Given the description of an element on the screen output the (x, y) to click on. 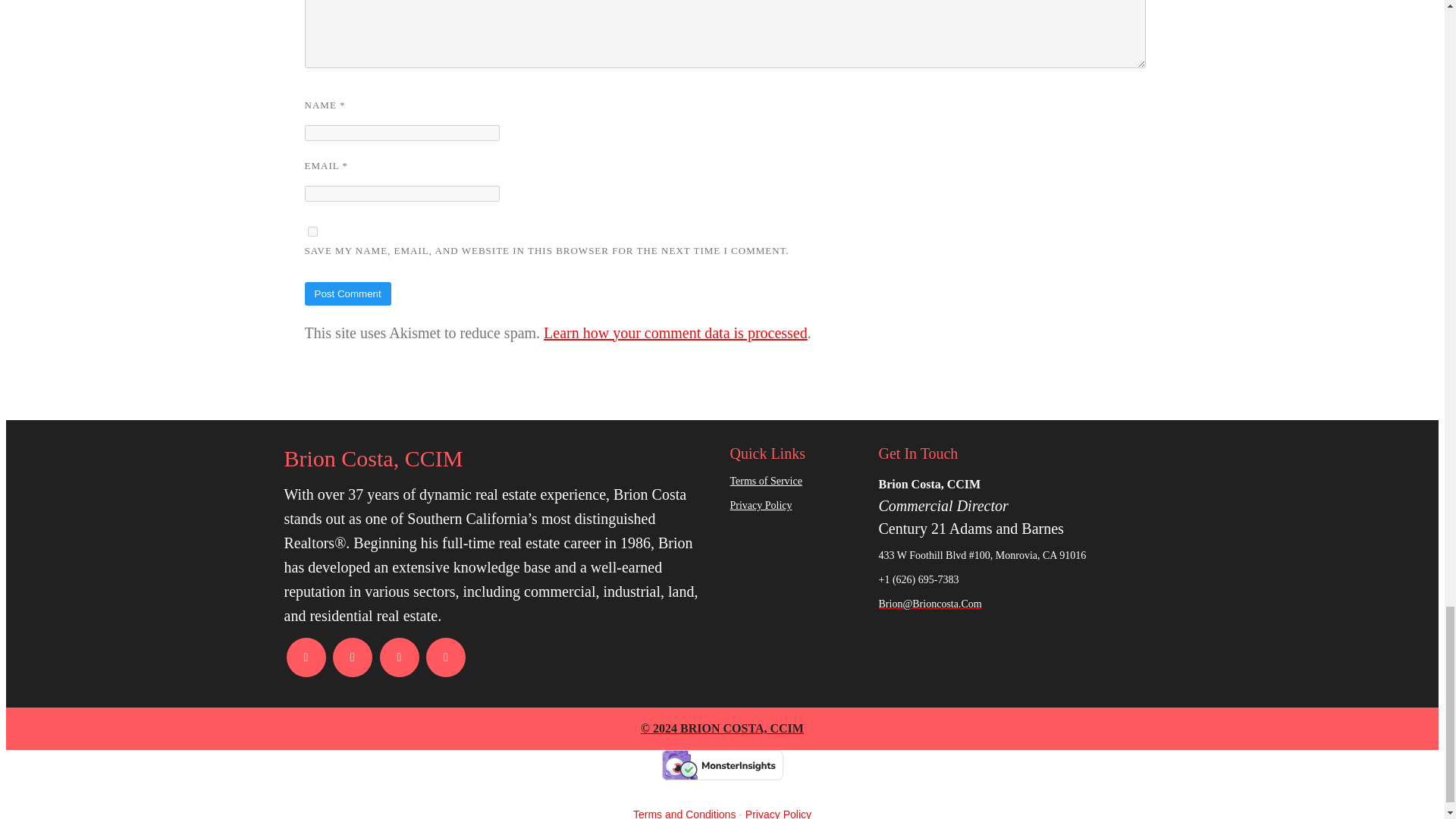
Brion Costa, CCIM (498, 459)
Post Comment (347, 293)
Post Comment (347, 293)
yes (312, 231)
Verified by MonsterInsights (722, 765)
Learn how your comment data is processed (675, 332)
Terms of Service (796, 481)
Privacy Policy (796, 505)
